Given the description of an element on the screen output the (x, y) to click on. 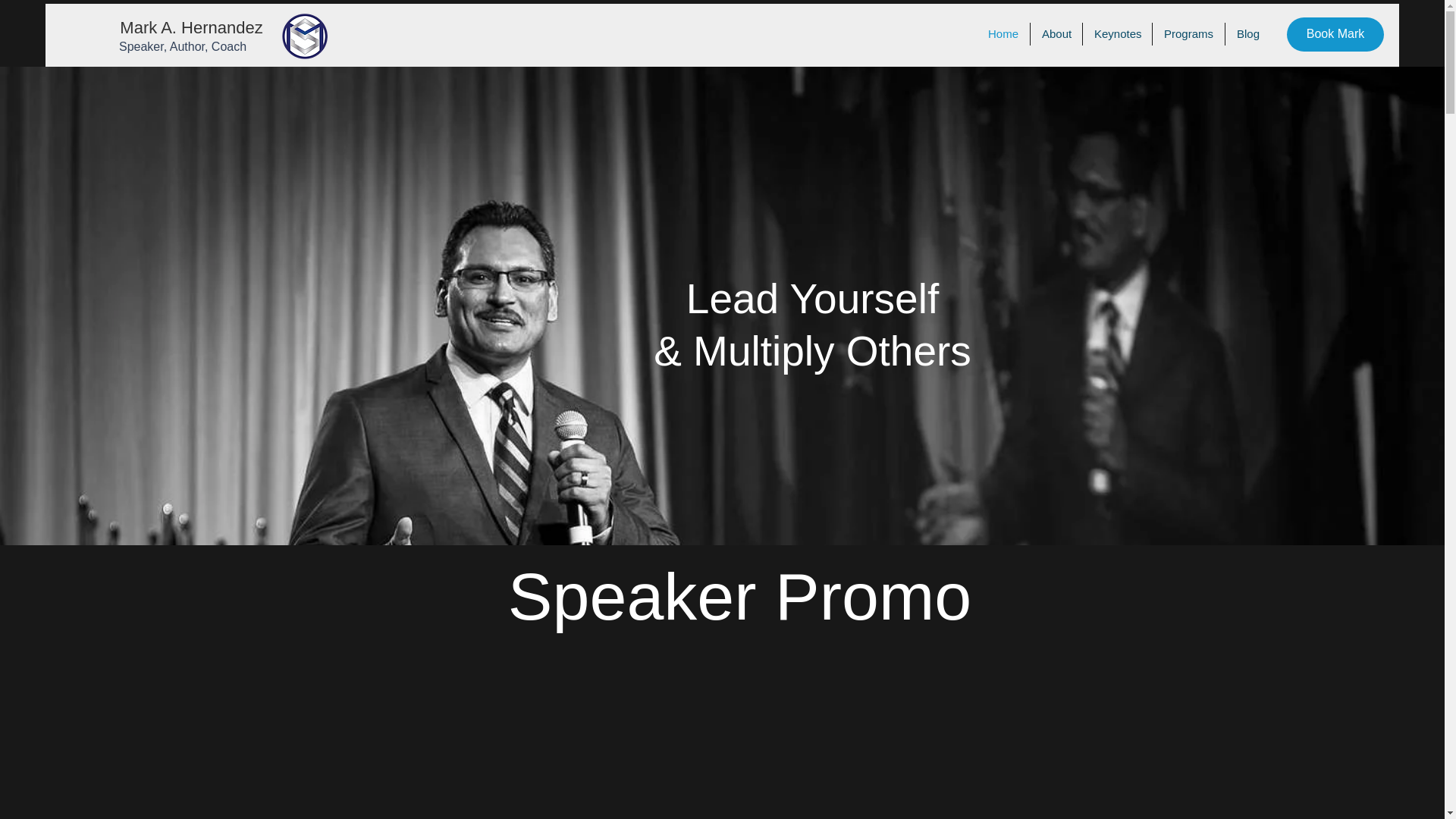
Book Mark (1335, 34)
Home (1002, 33)
Blog (1247, 33)
Keynotes (1117, 33)
About (1055, 33)
Programs (1188, 33)
